Given the description of an element on the screen output the (x, y) to click on. 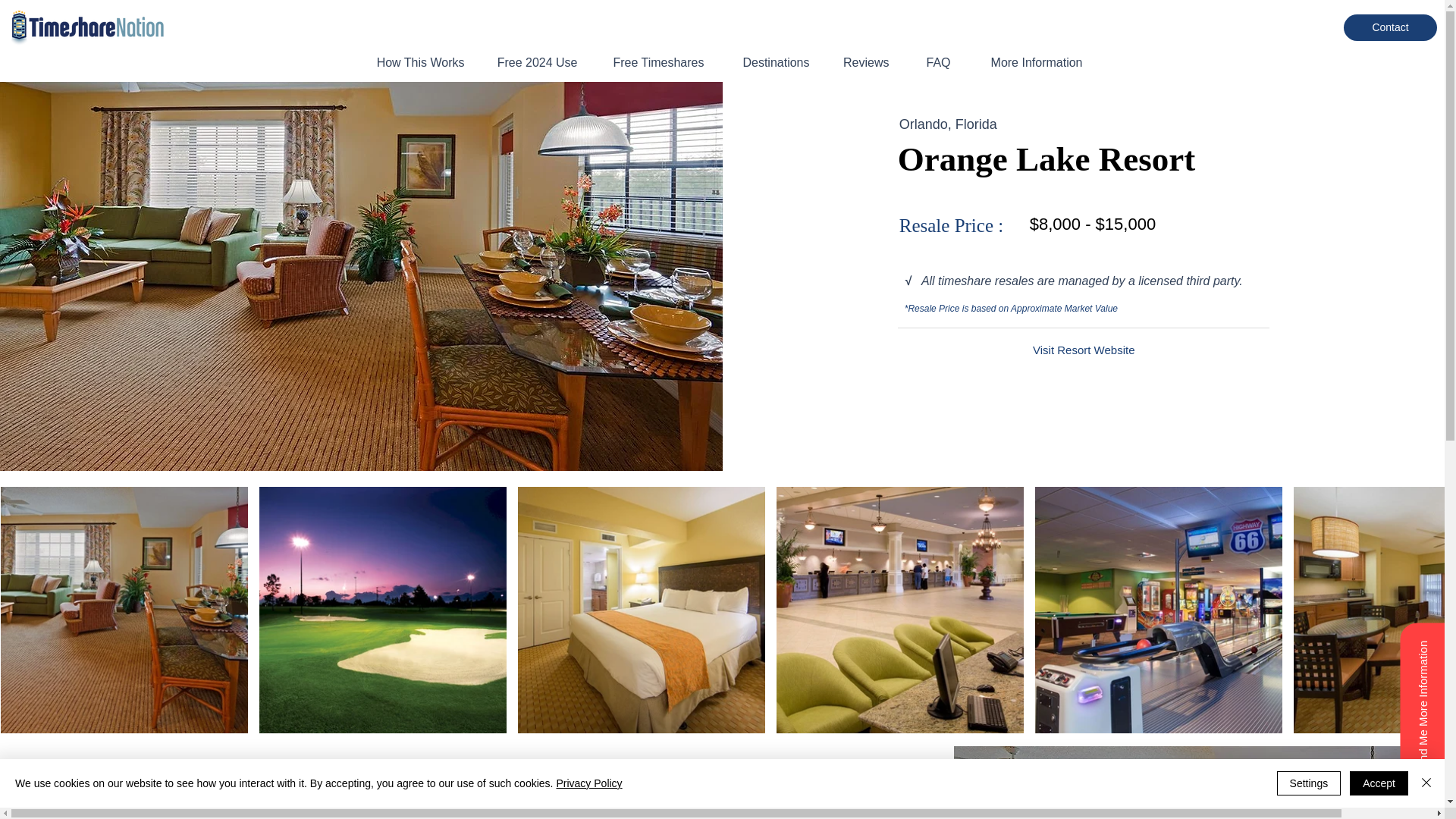
How This Works (413, 62)
More Information (1026, 62)
Reviews (860, 62)
Settings (1308, 783)
Accept (1378, 783)
Visit Resort Website (1083, 349)
Privacy Policy (588, 783)
Contact (1390, 27)
Destinations (768, 62)
Free Timeshares (651, 62)
Free 2024 Use (532, 62)
FAQ (931, 62)
